Given the description of an element on the screen output the (x, y) to click on. 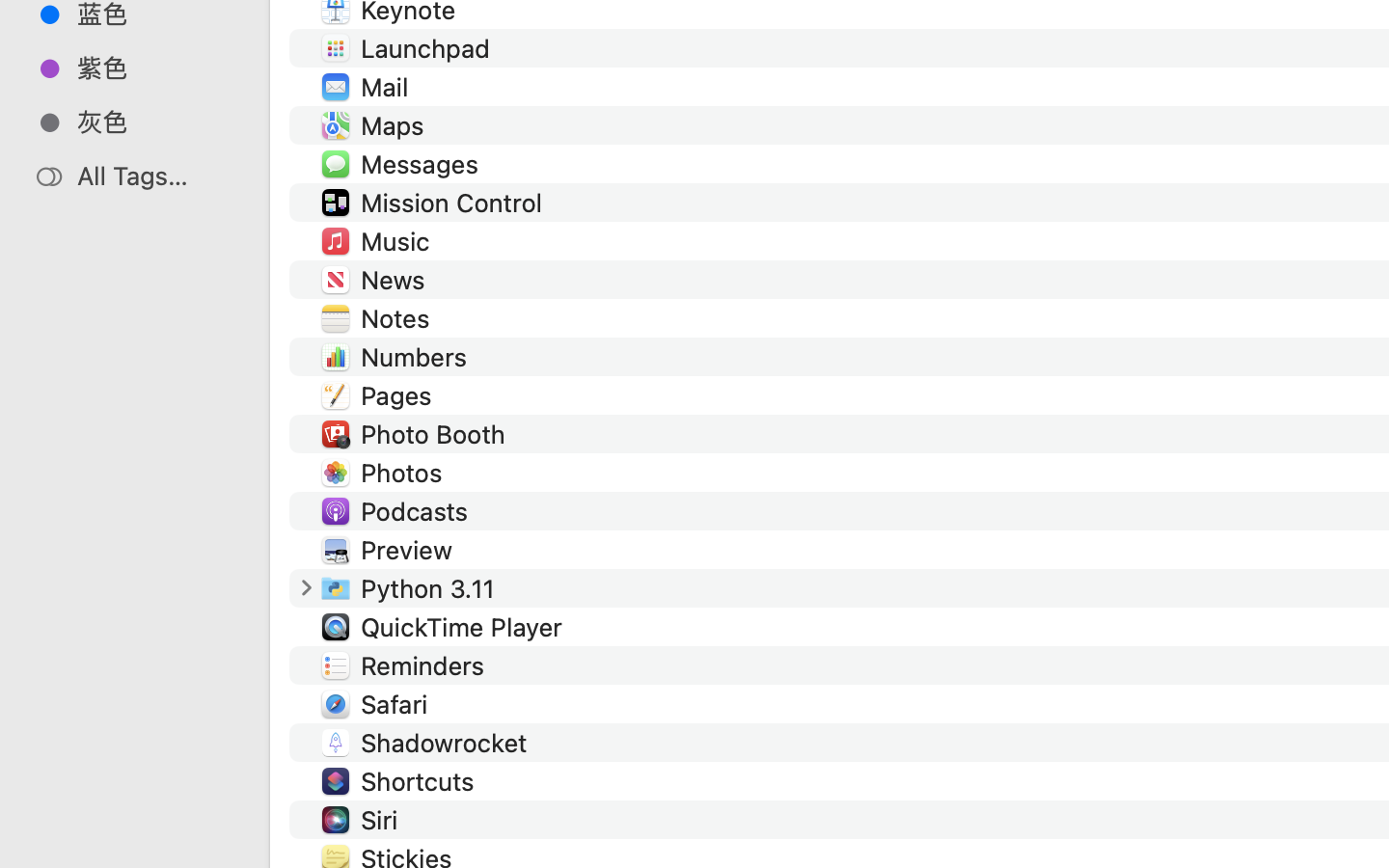
Notes Element type: AXTextField (398, 317)
Shadowrocket Element type: AXTextField (448, 742)
Applications Element type: AXStaticText (875, 786)
0 Element type: AXDisclosureTriangle (305, 588)
紫色 Element type: AXStaticText (155, 67)
